Given the description of an element on the screen output the (x, y) to click on. 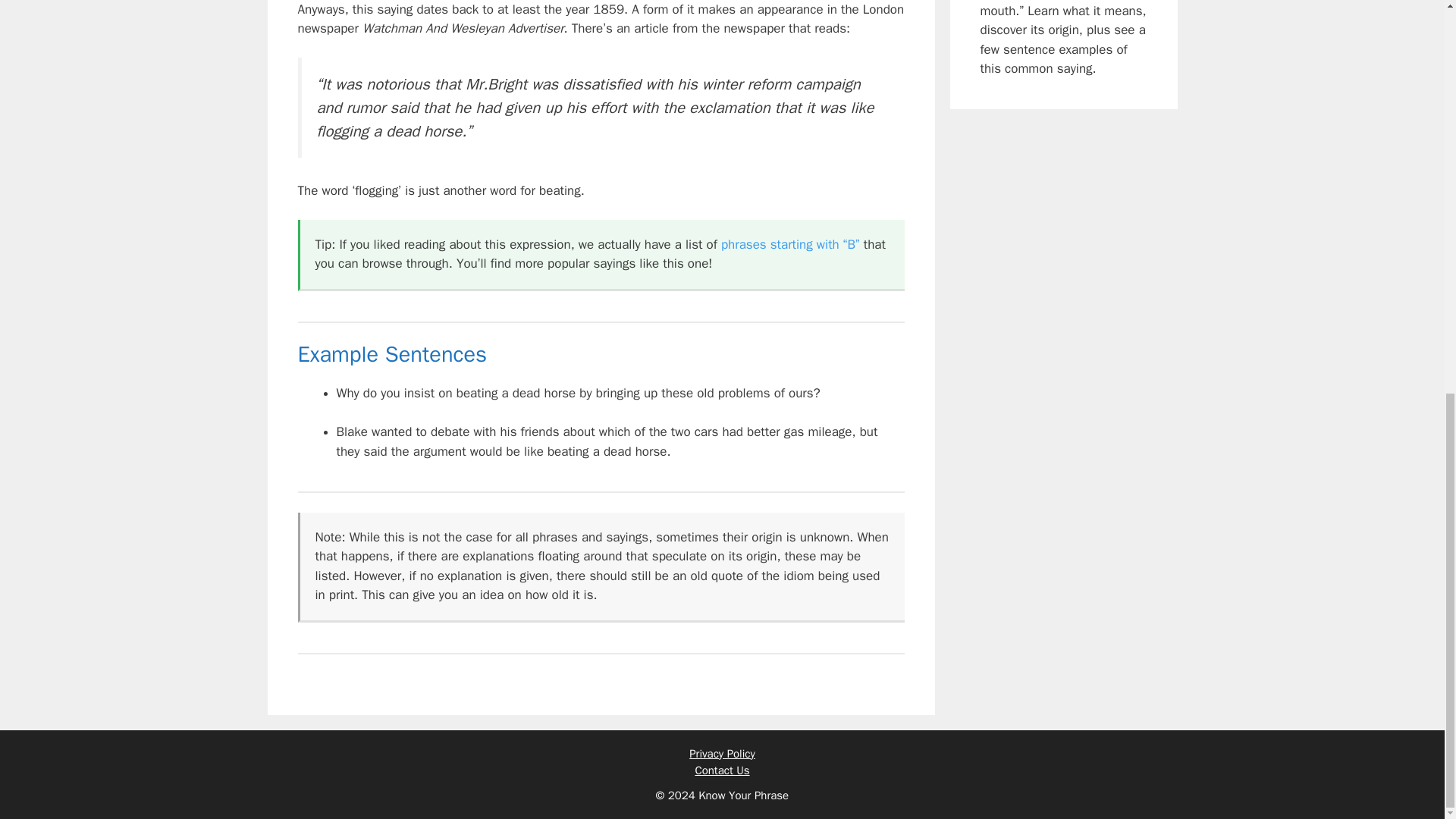
Contact Us (721, 770)
Privacy Policy (721, 753)
